Given the description of an element on the screen output the (x, y) to click on. 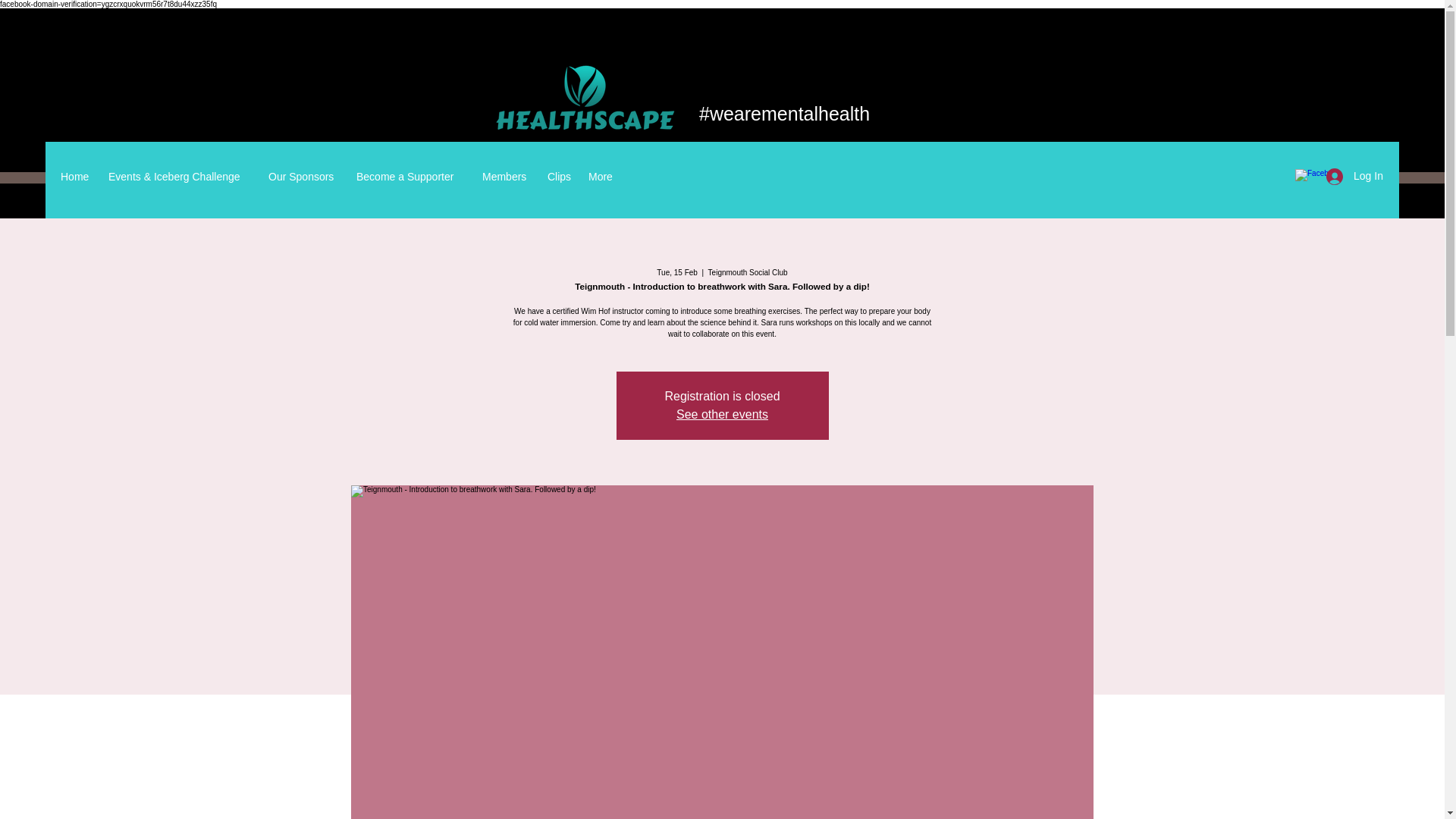
See other events (722, 413)
Clips (560, 176)
Our Sponsors (304, 176)
Become a Supporter (411, 176)
Log In (1350, 176)
Members (507, 176)
Home (76, 176)
